Given the description of an element on the screen output the (x, y) to click on. 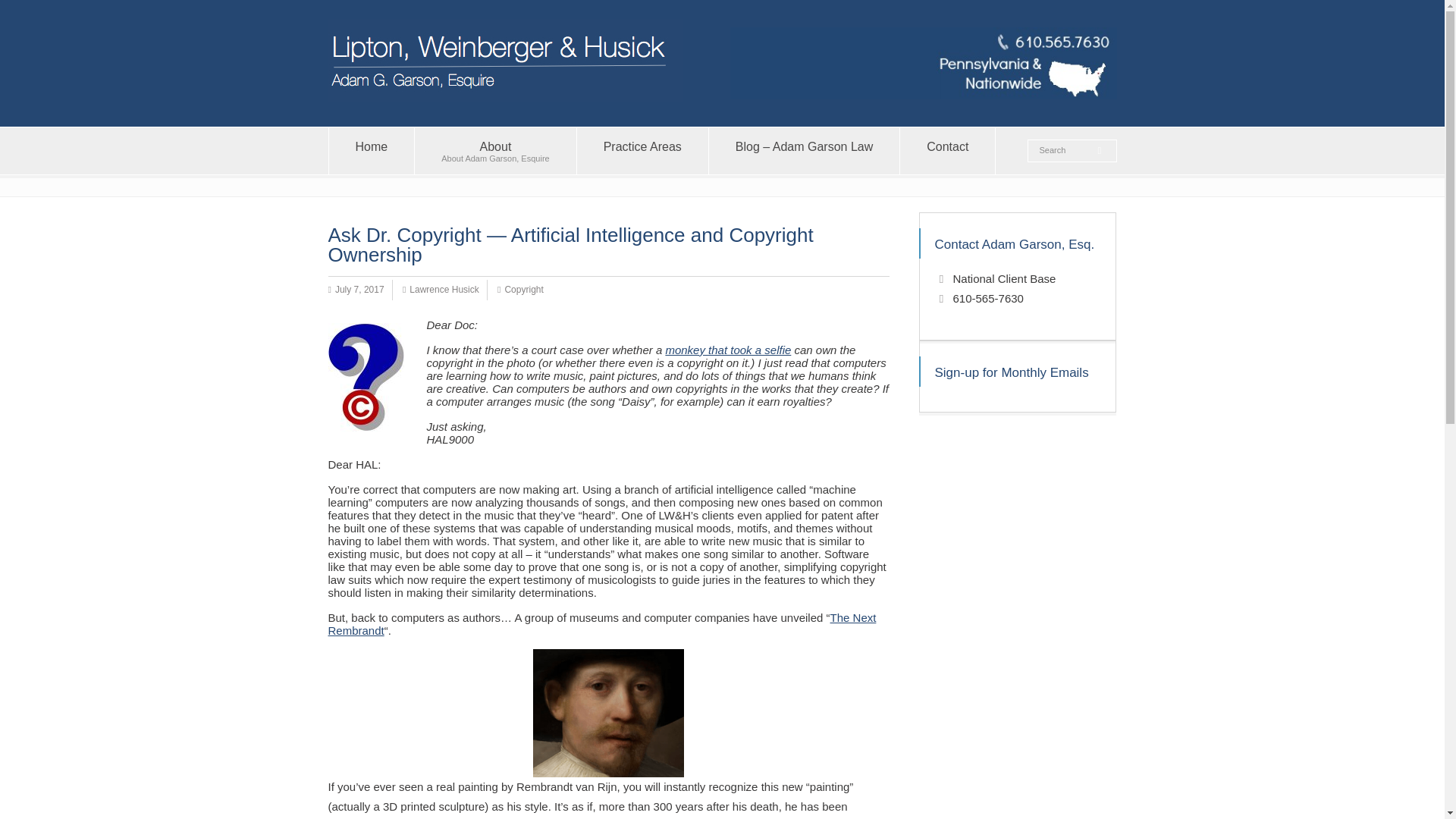
Posts by Lawrence Husick (946, 150)
Search (444, 289)
Copyright (1063, 151)
IP Legal Team (371, 150)
Areas we can help you (523, 289)
No Obligation Consultations (494, 150)
Lawrence Husick (641, 150)
